Given the description of an element on the screen output the (x, y) to click on. 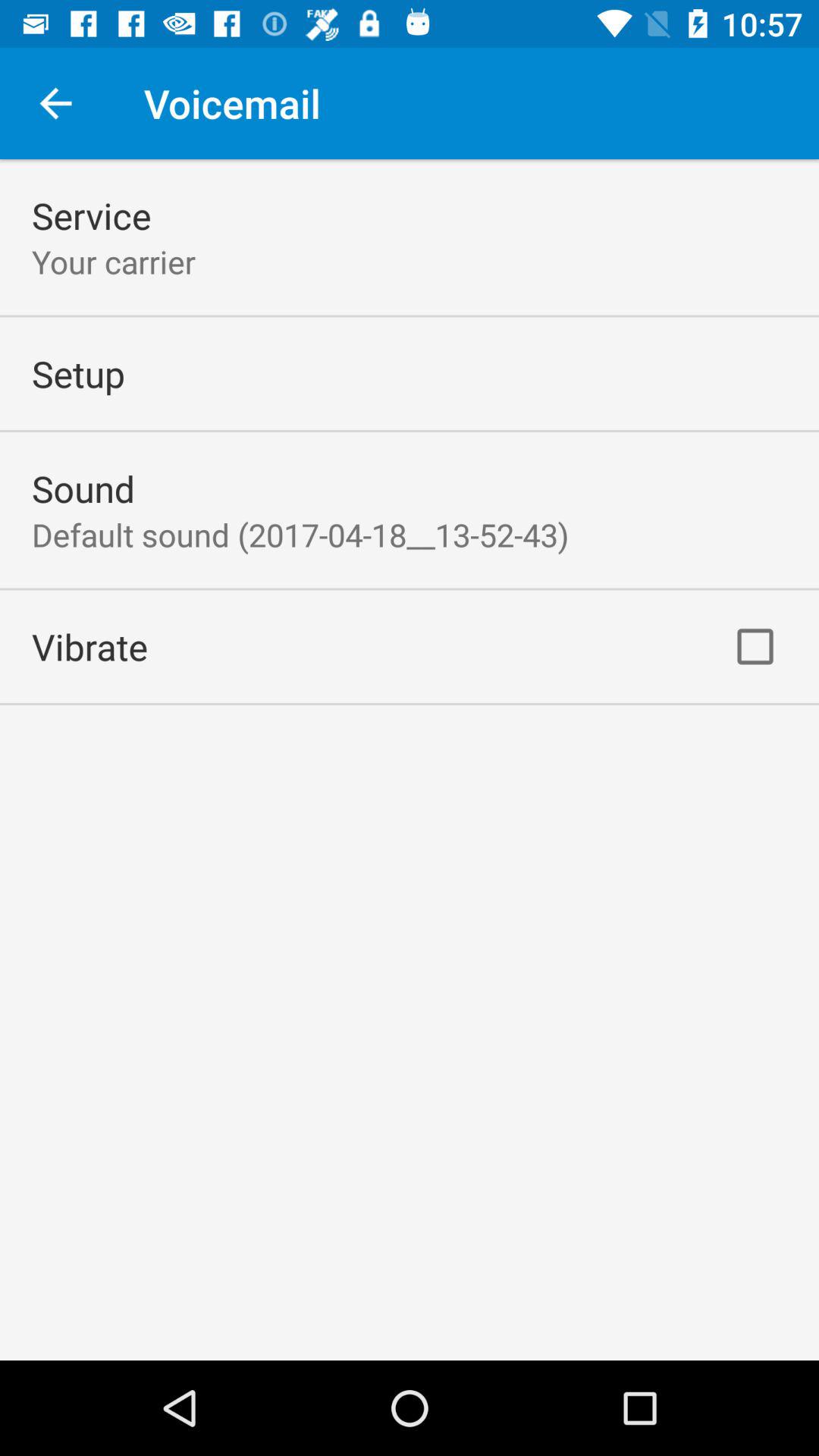
open app next to vibrate icon (755, 646)
